Given the description of an element on the screen output the (x, y) to click on. 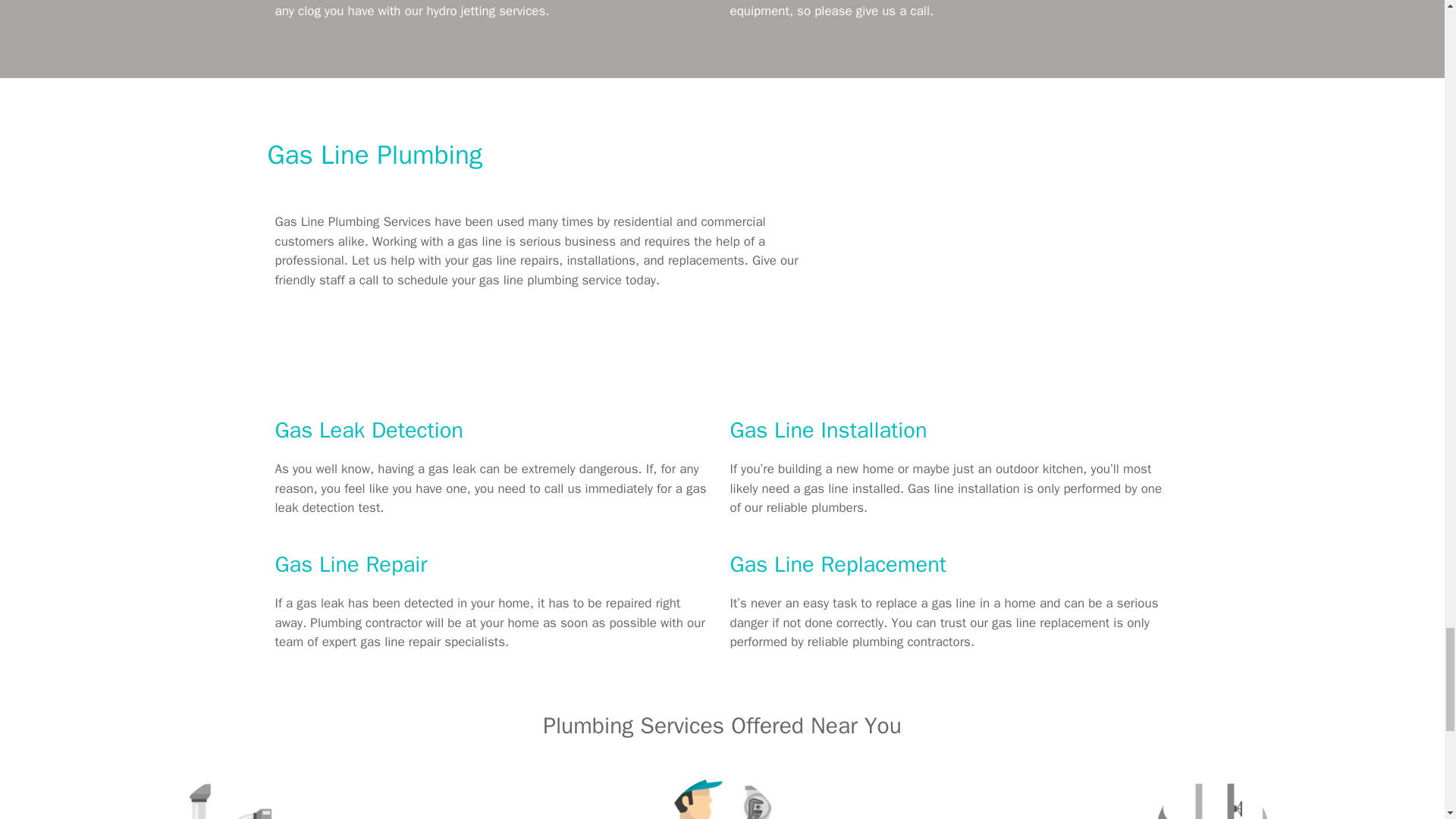
Avantel Plumbing Drain Cleaning and Water Heater Services (994, 287)
